Given the description of an element on the screen output the (x, y) to click on. 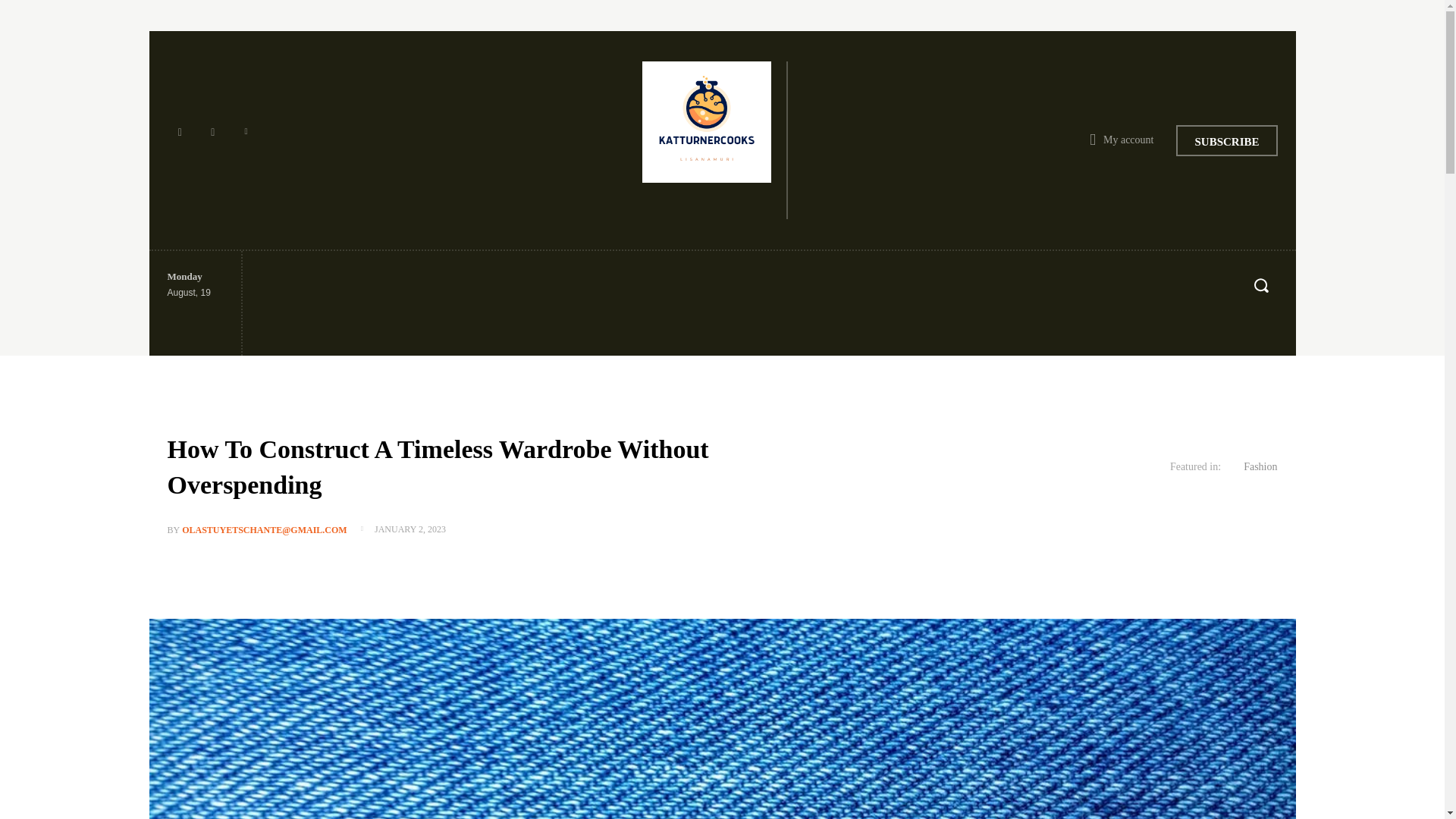
Twitter (245, 140)
Instagram (212, 140)
SUBSCRIBE (1226, 139)
Facebook (179, 140)
